Given the description of an element on the screen output the (x, y) to click on. 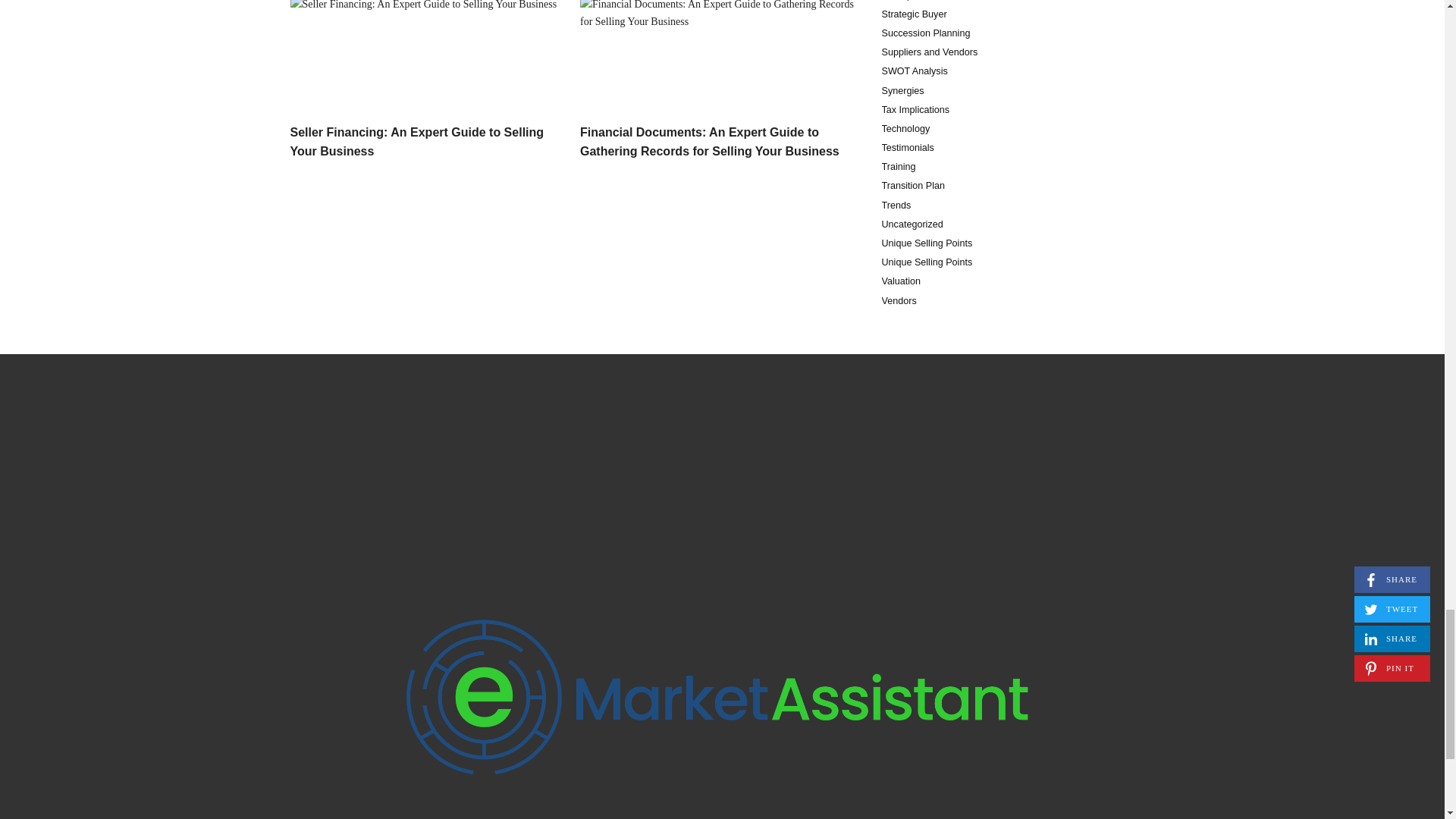
Seller Financing: An Expert Guide to Selling Your Business (416, 142)
Seller Financing: An Expert Guide to Selling Your Business (429, 58)
